Given the description of an element on the screen output the (x, y) to click on. 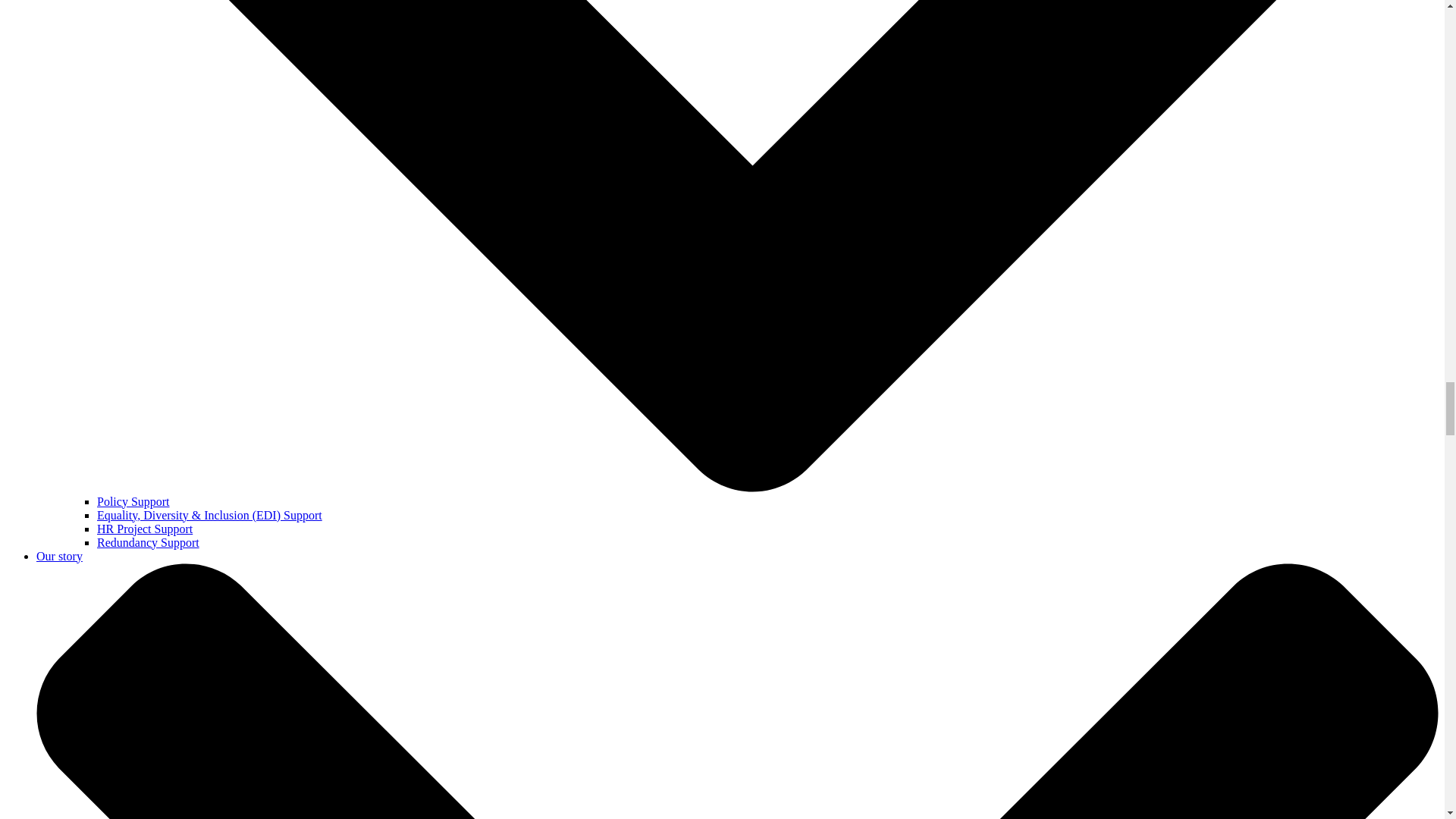
Redundancy Support (148, 542)
Policy Support (133, 501)
HR Project Support (144, 528)
